Given the description of an element on the screen output the (x, y) to click on. 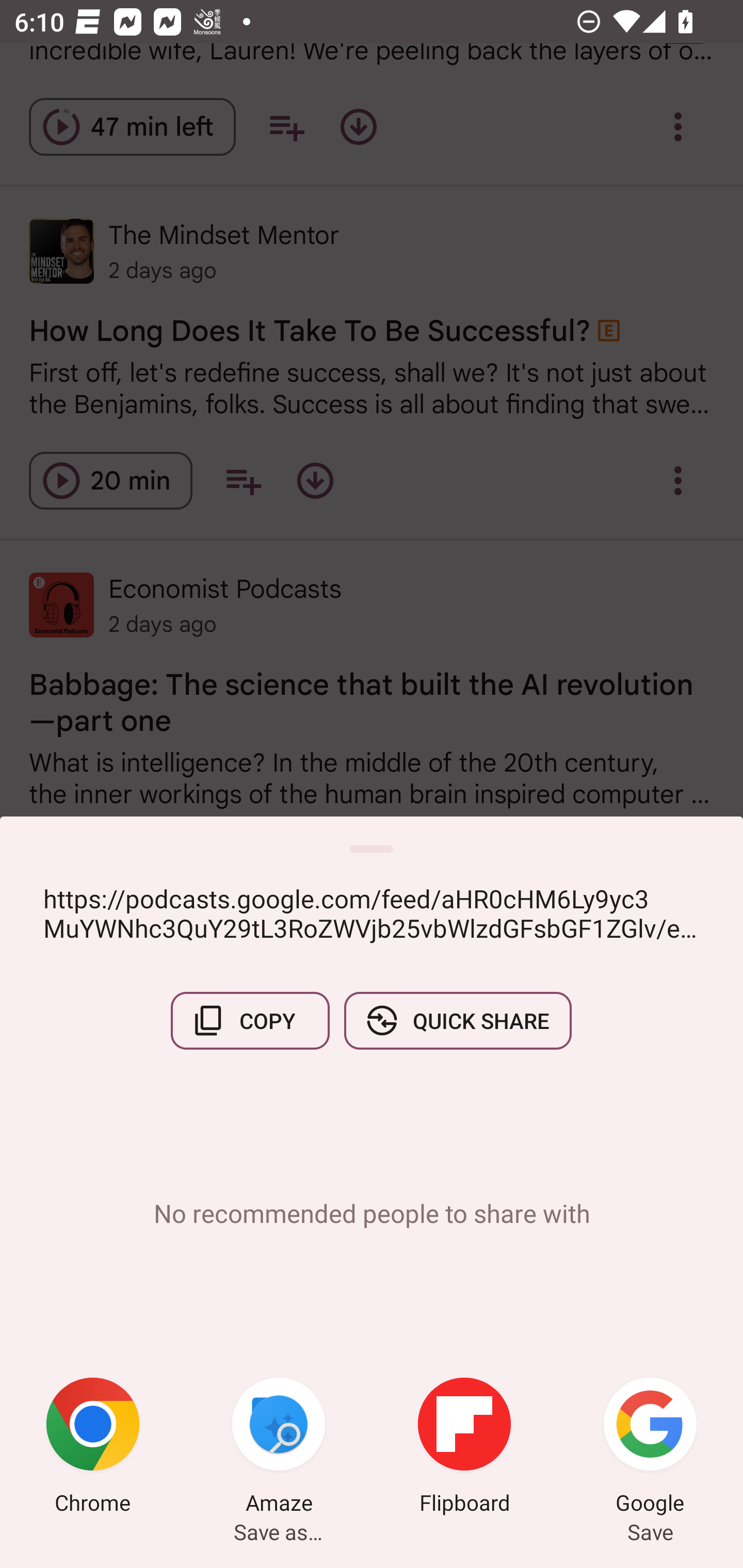
COPY (249, 1020)
QUICK SHARE (457, 1020)
Chrome (92, 1448)
Amaze Save as… (278, 1448)
Flipboard (464, 1448)
Google Save (650, 1448)
